Given the description of an element on the screen output the (x, y) to click on. 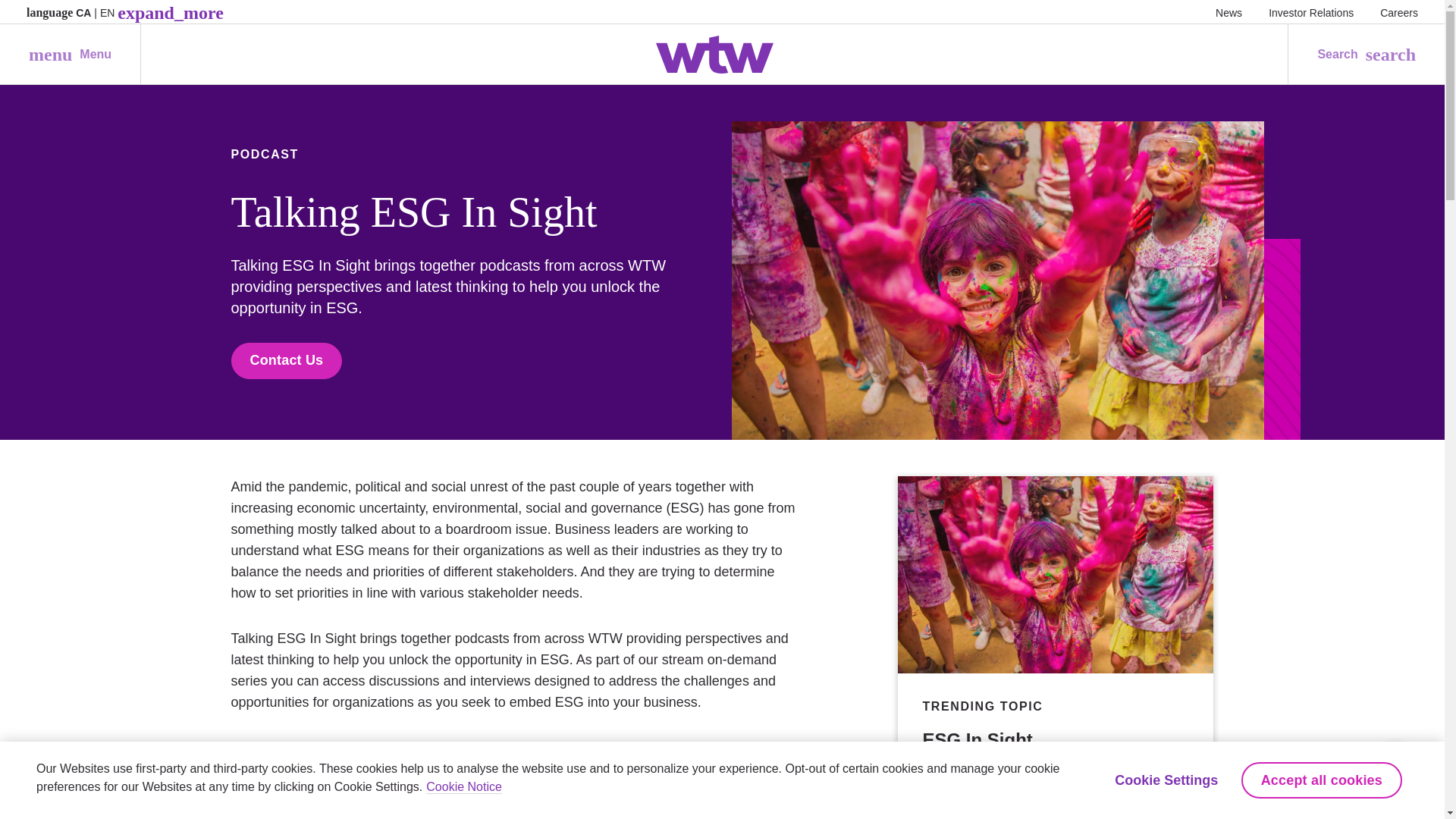
News (1228, 12)
Careers (1399, 12)
Investor Relations (69, 54)
